Given the description of an element on the screen output the (x, y) to click on. 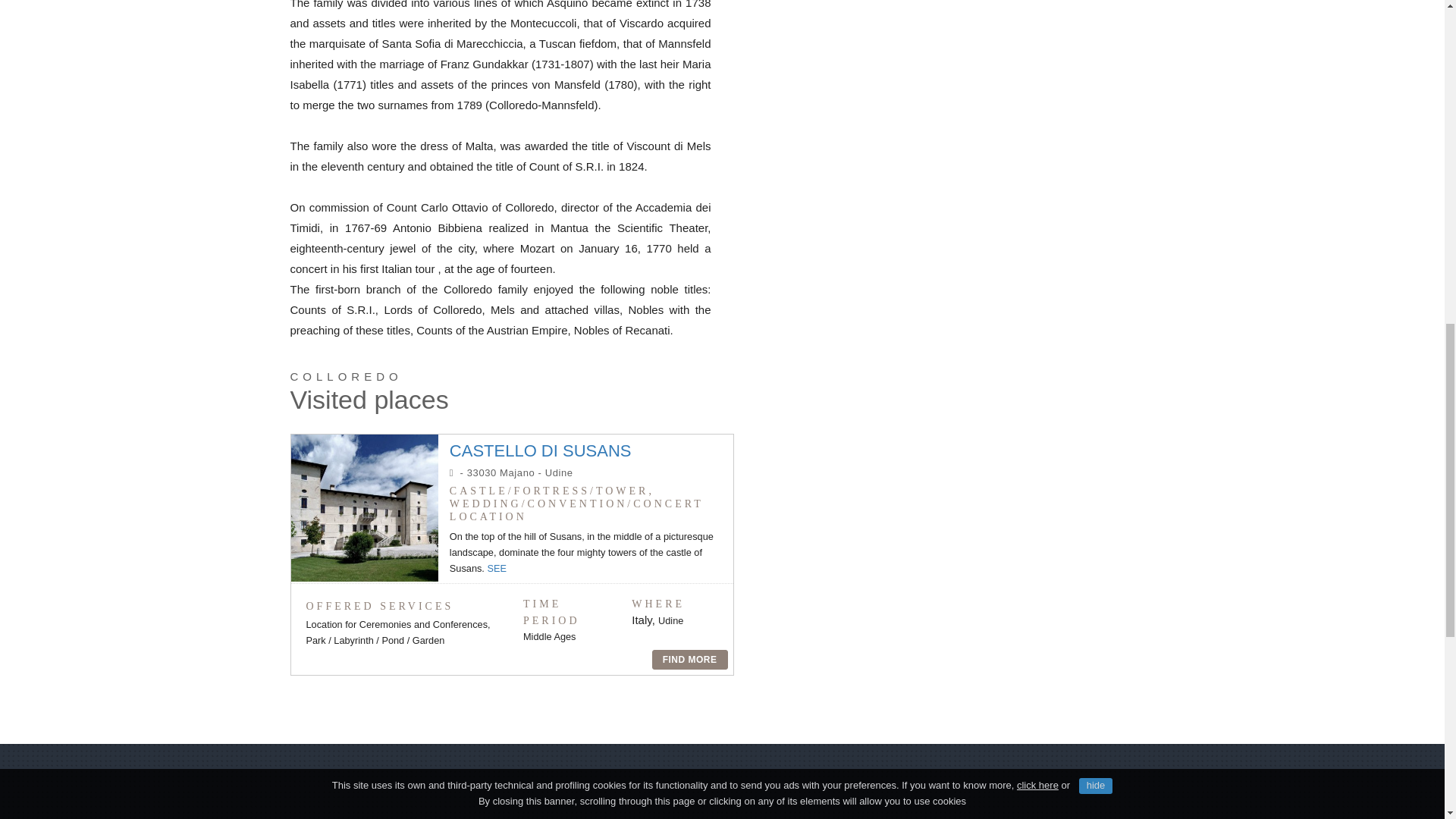
FIND MORE (690, 659)
CASTELLO DI SUSANS (540, 450)
SEE (496, 568)
